Given the description of an element on the screen output the (x, y) to click on. 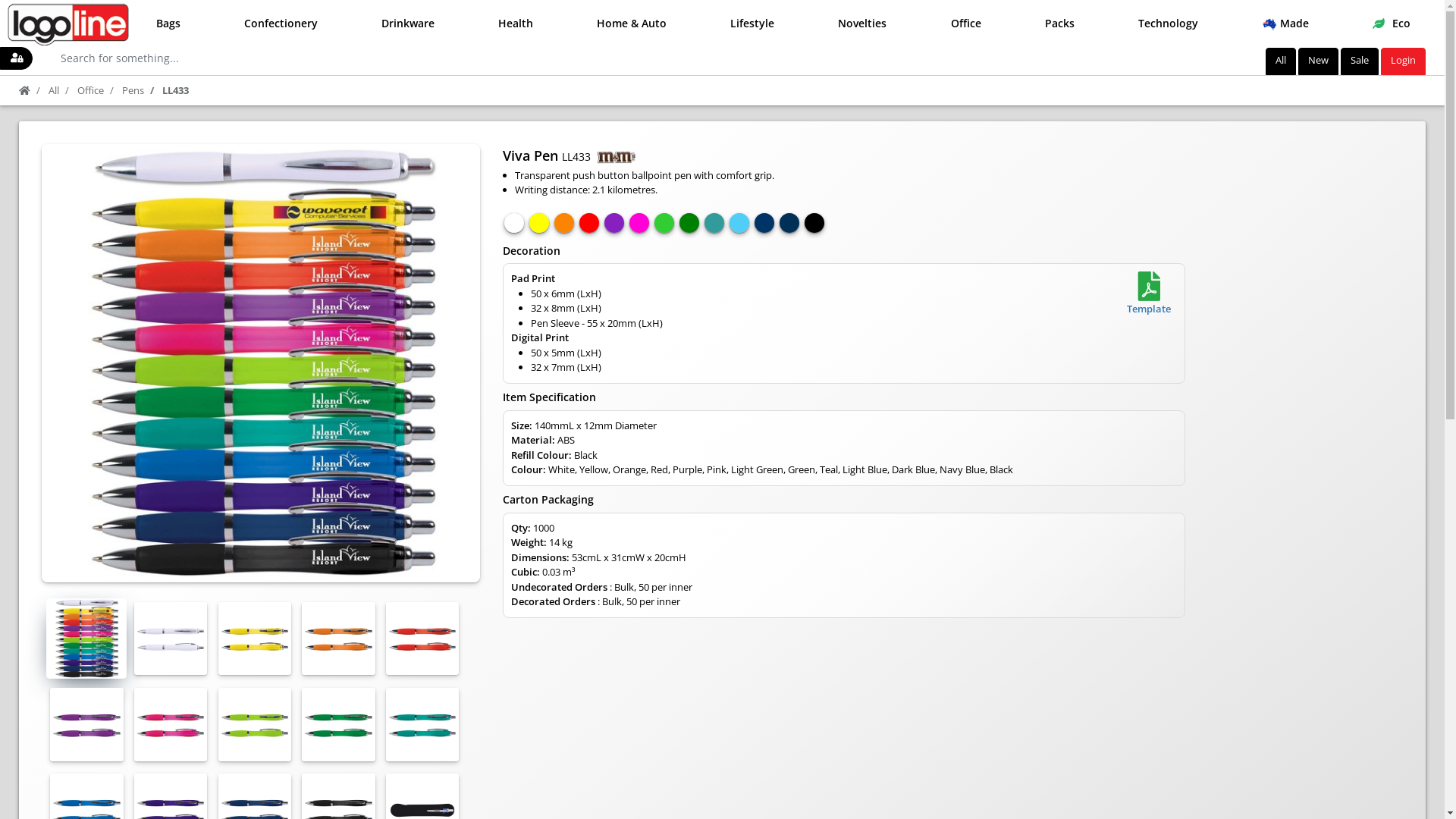
0 Element type: text (337, 723)
0 Element type: text (170, 723)
Drinkware Element type: text (405, 22)
Health Element type: text (513, 22)
Sale Element type: text (1359, 61)
0 Element type: text (421, 638)
Lifestyle Element type: text (750, 22)
Pens Element type: text (133, 90)
Confectionery Element type: text (279, 22)
Home & Auto Element type: text (629, 22)
0 Element type: text (86, 723)
0 Element type: text (254, 638)
Packs Element type: text (1057, 22)
Bags Element type: text (166, 22)
0 Element type: text (83, 634)
Technology Element type: text (1166, 22)
Template Element type: text (1148, 293)
0 Element type: text (254, 723)
0 Element type: text (421, 723)
Office Element type: text (963, 22)
All Element type: text (1280, 61)
0 Element type: text (337, 638)
0 Element type: text (170, 638)
Novelties Element type: text (859, 22)
Eco Element type: text (1389, 22)
Made Element type: text (1283, 22)
New Element type: text (1318, 61)
All Element type: text (53, 90)
Office Element type: text (90, 90)
Login Element type: text (1402, 61)
